Given the description of an element on the screen output the (x, y) to click on. 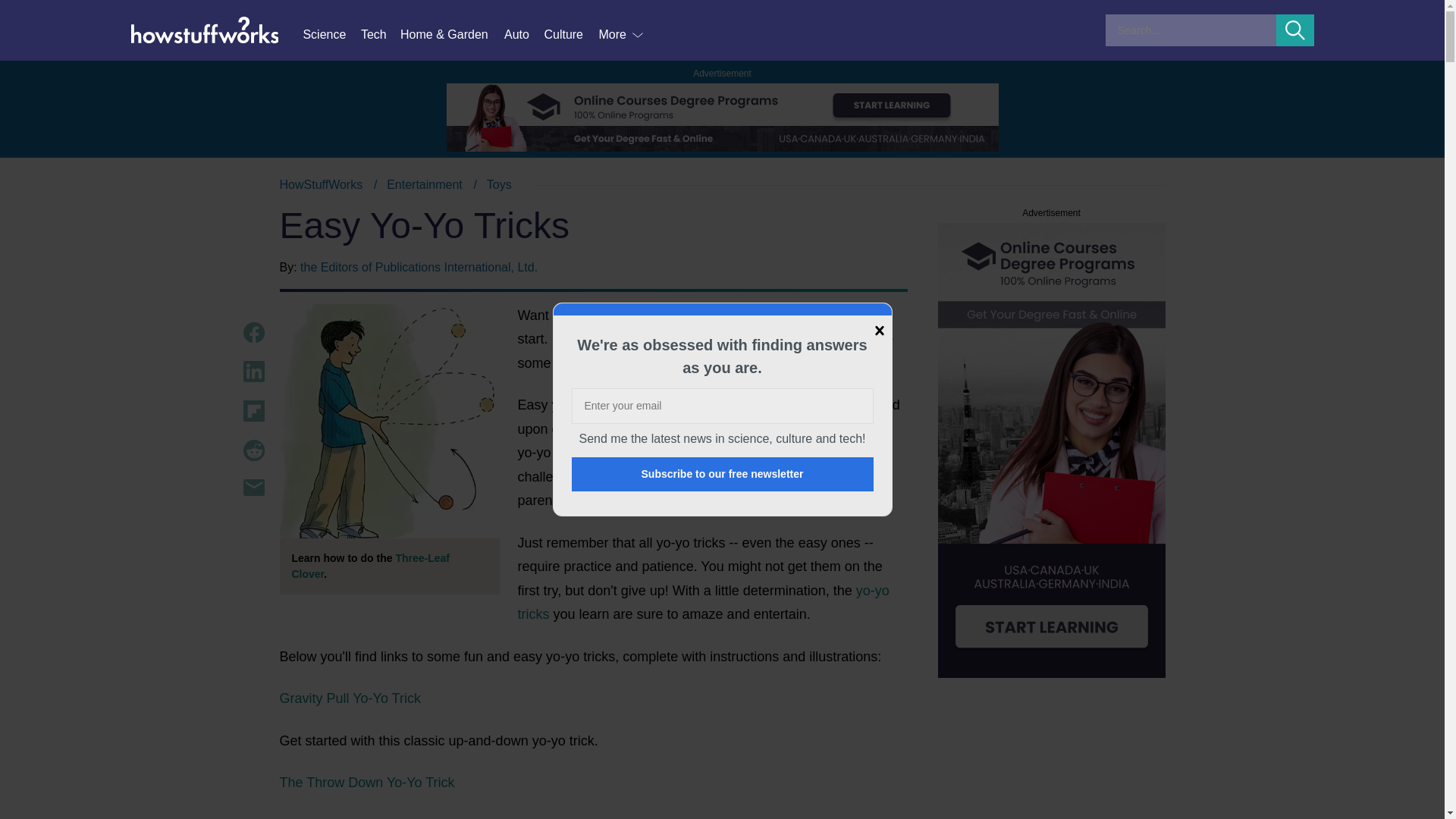
More (621, 34)
Share Content on Facebook (721, 185)
Share Content on Flipboard (253, 332)
Culture (253, 410)
Tech (570, 34)
Auto (380, 34)
Share Content on LinkedIn (523, 34)
Entertainment (253, 371)
Share Content on Reddit (425, 184)
HowStuffWorks (253, 450)
Science (320, 184)
Submit Search (330, 34)
Share Content via Email (1295, 29)
Toys (253, 487)
